Given the description of an element on the screen output the (x, y) to click on. 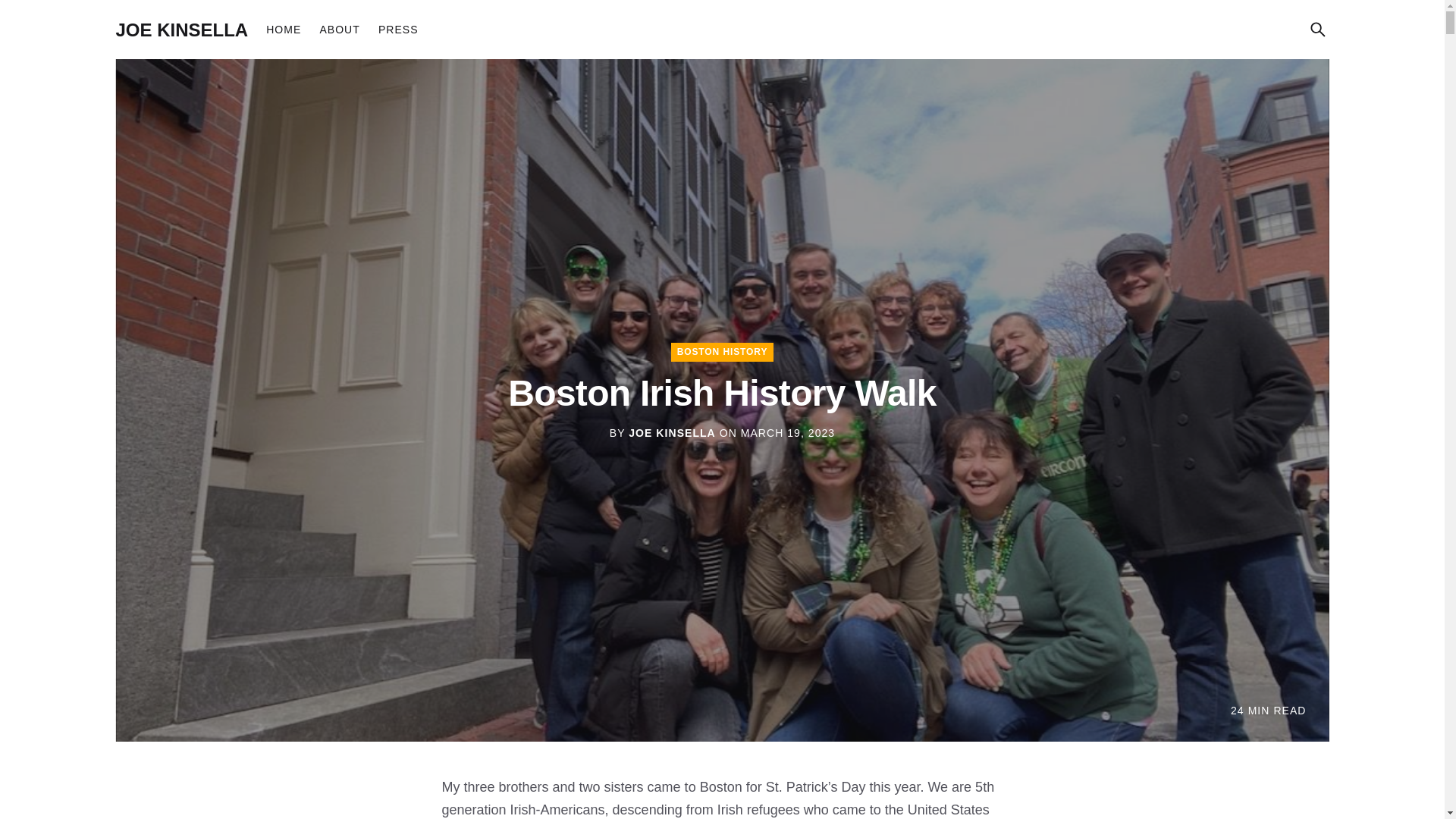
PRESS (398, 28)
JOE KINSELLA (672, 432)
BOSTON HISTORY (722, 352)
JOE KINSELLA (181, 29)
HOME (283, 28)
ABOUT (338, 28)
